Given the description of an element on the screen output the (x, y) to click on. 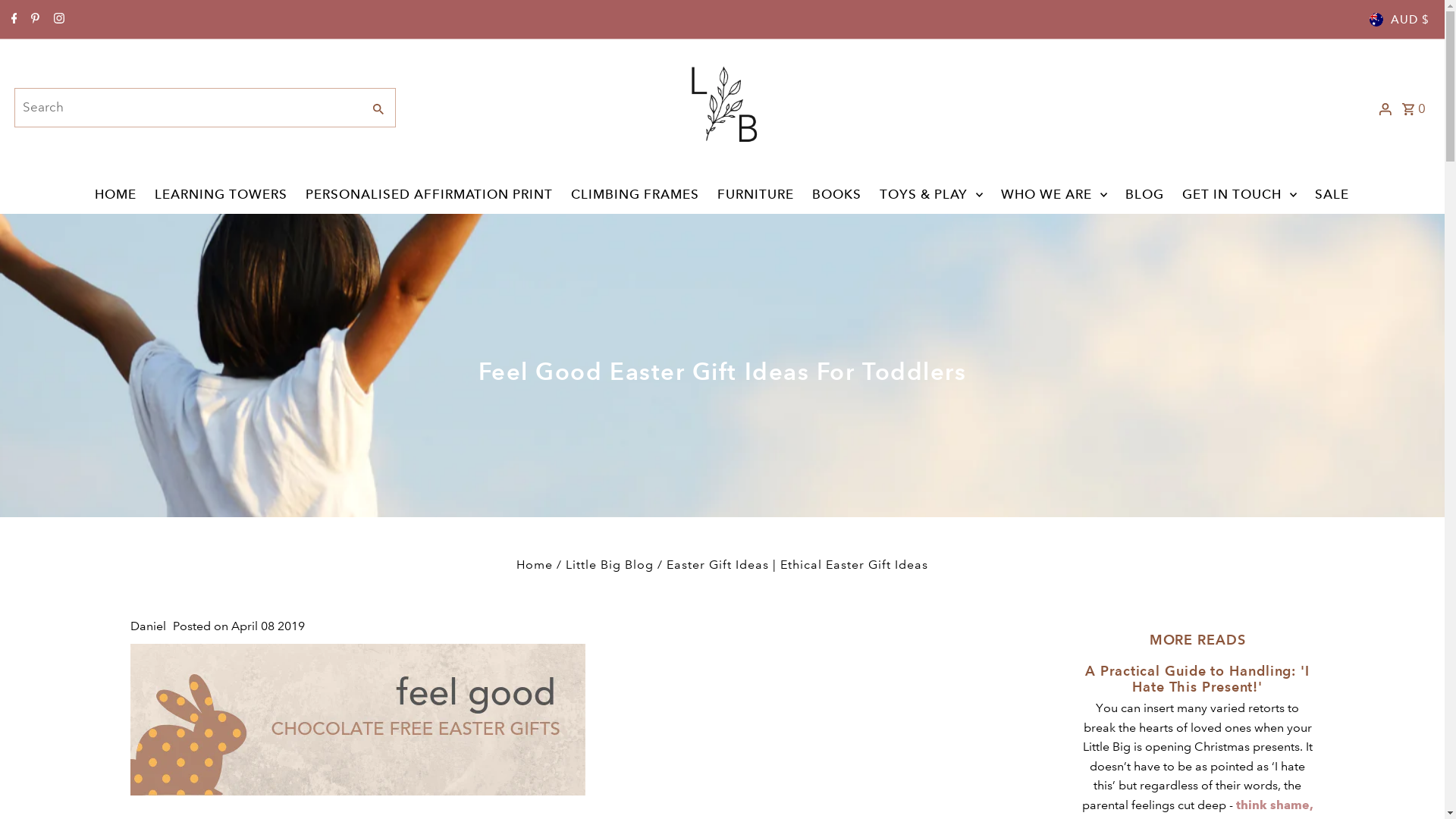
A Practical Guide to Handling: 'I Hate This Present!' Element type: text (1197, 678)
PERSONALISED AFFIRMATION PRINT Element type: text (429, 194)
WHO WE ARE Element type: text (1053, 194)
CLIMBING FRAMES Element type: text (634, 194)
Home Element type: text (534, 564)
AUD $ Element type: text (1399, 19)
Little Big Blog Element type: text (609, 564)
HOME Element type: text (115, 194)
FURNITURE Element type: text (755, 194)
TOYS & PLAY Element type: text (931, 194)
LEARNING TOWERS Element type: text (220, 194)
SALE Element type: text (1331, 194)
BOOKS Element type: text (836, 194)
BLOG Element type: text (1144, 194)
GET IN TOUCH Element type: text (1239, 194)
